Given the description of an element on the screen output the (x, y) to click on. 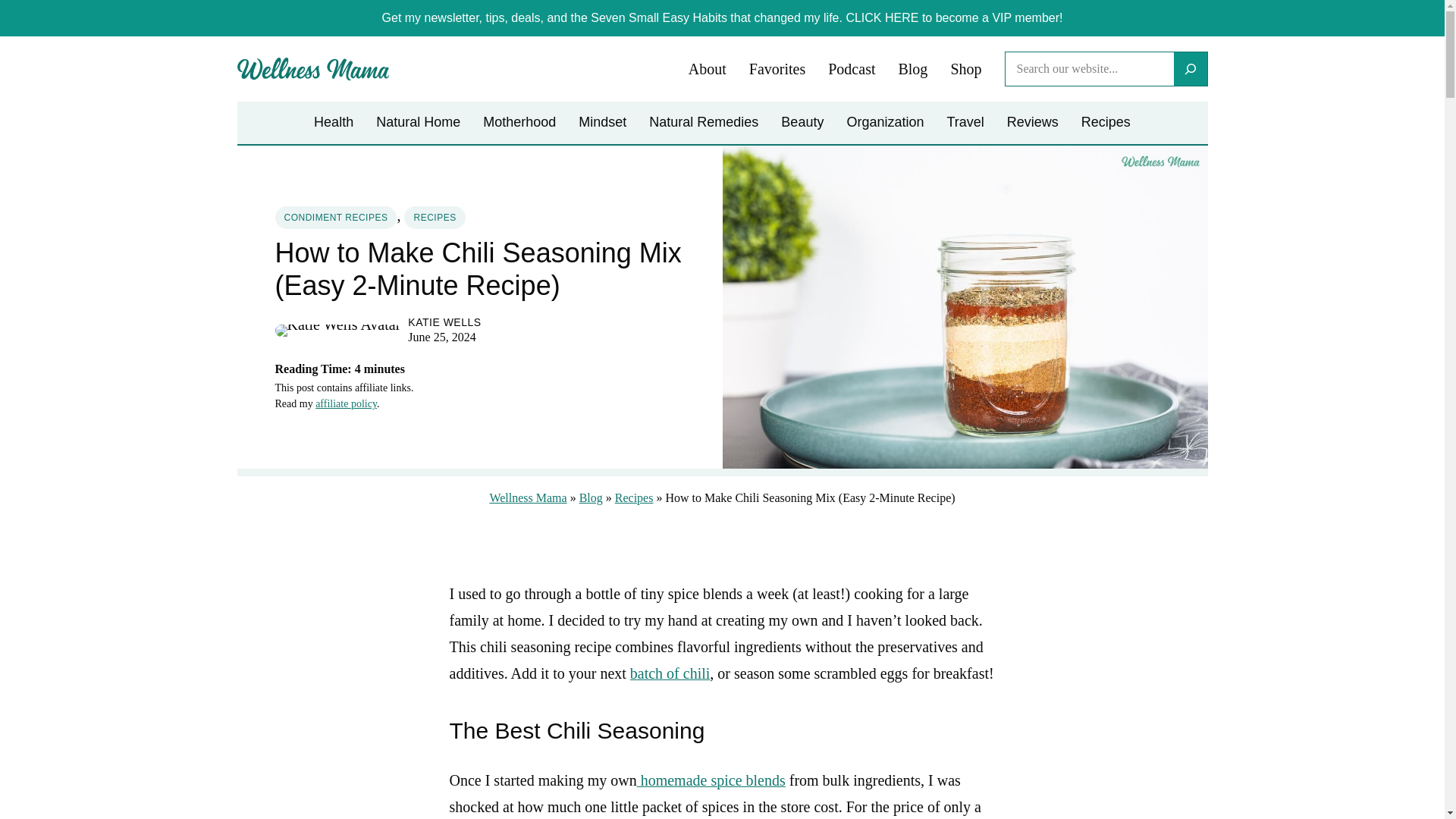
Health (333, 122)
Recipes (633, 497)
RECIPES (434, 217)
Motherhood (519, 122)
Favorites (777, 69)
Reviews (1032, 122)
Natural Home (417, 122)
CONDIMENT RECIPES (335, 217)
Recipes (1106, 122)
Blog (912, 69)
